Given the description of an element on the screen output the (x, y) to click on. 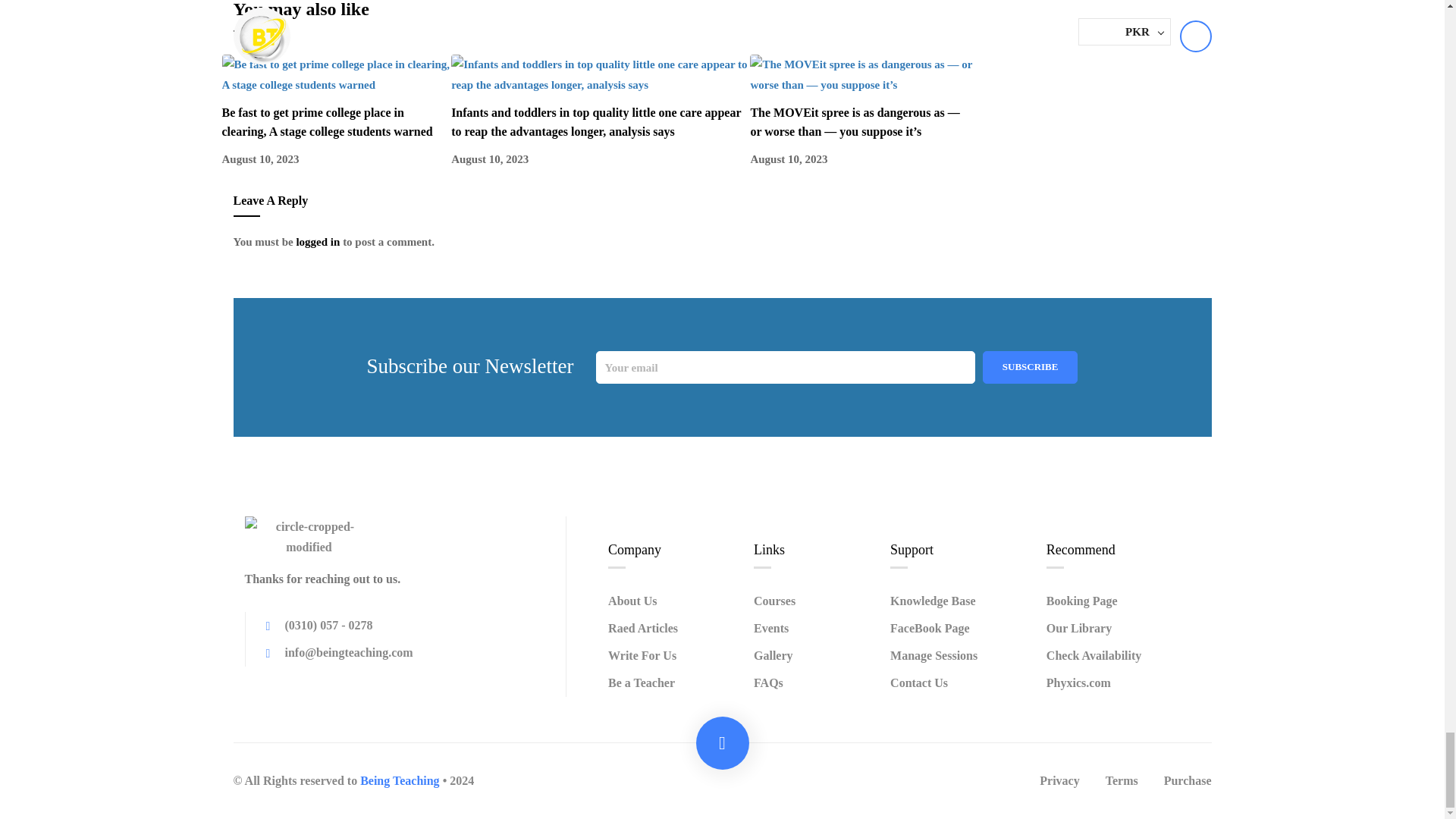
Subscribe (1030, 367)
